Given the description of an element on the screen output the (x, y) to click on. 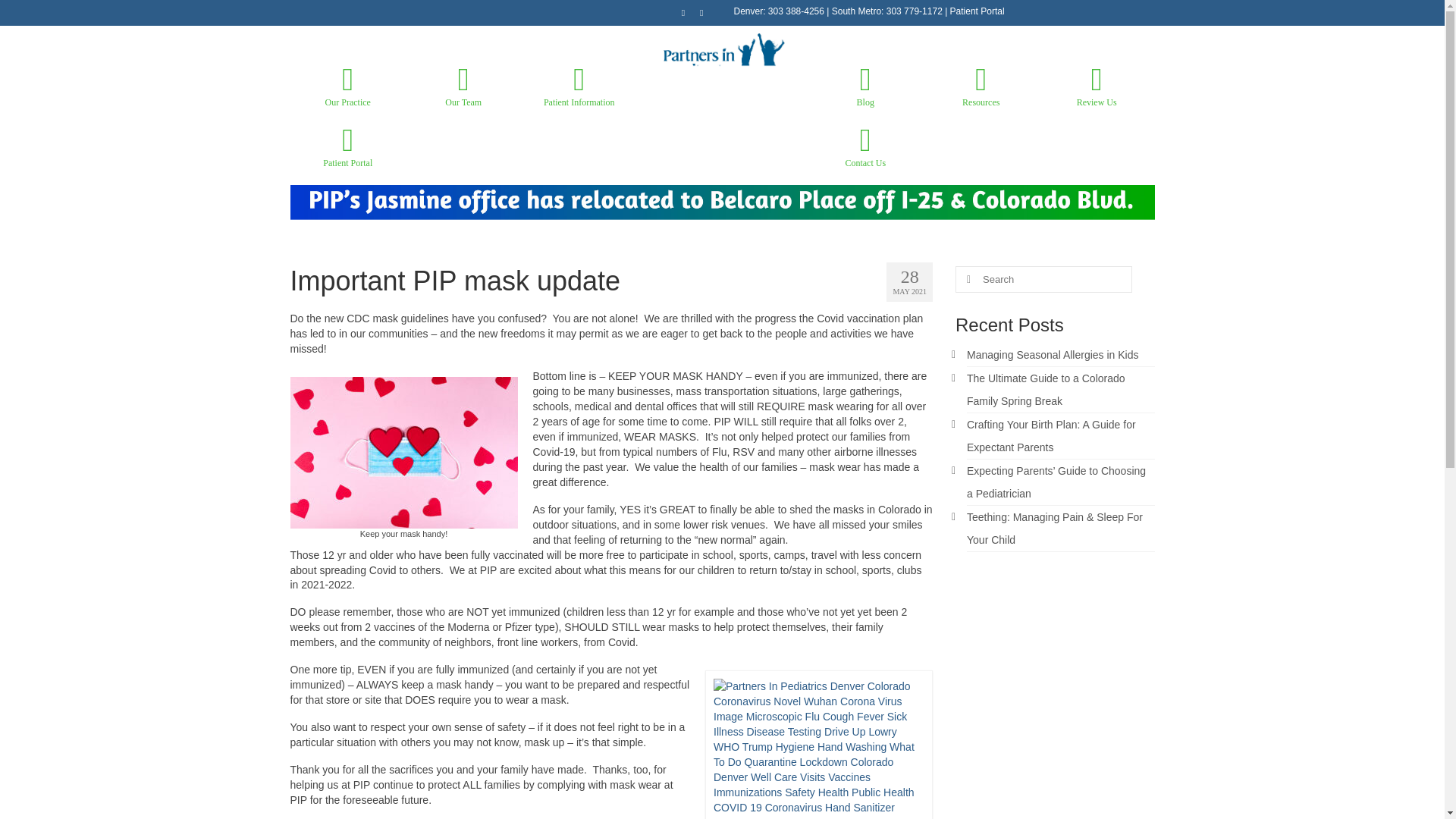
Resources (980, 86)
Review Us (1096, 86)
Contact Us (865, 147)
Partners in Pediatrics (723, 75)
Our Team (463, 86)
Patient Portal (977, 10)
Patient Information (578, 86)
Patient Portal (346, 147)
Our Practice (346, 86)
Blog (865, 86)
